Given the description of an element on the screen output the (x, y) to click on. 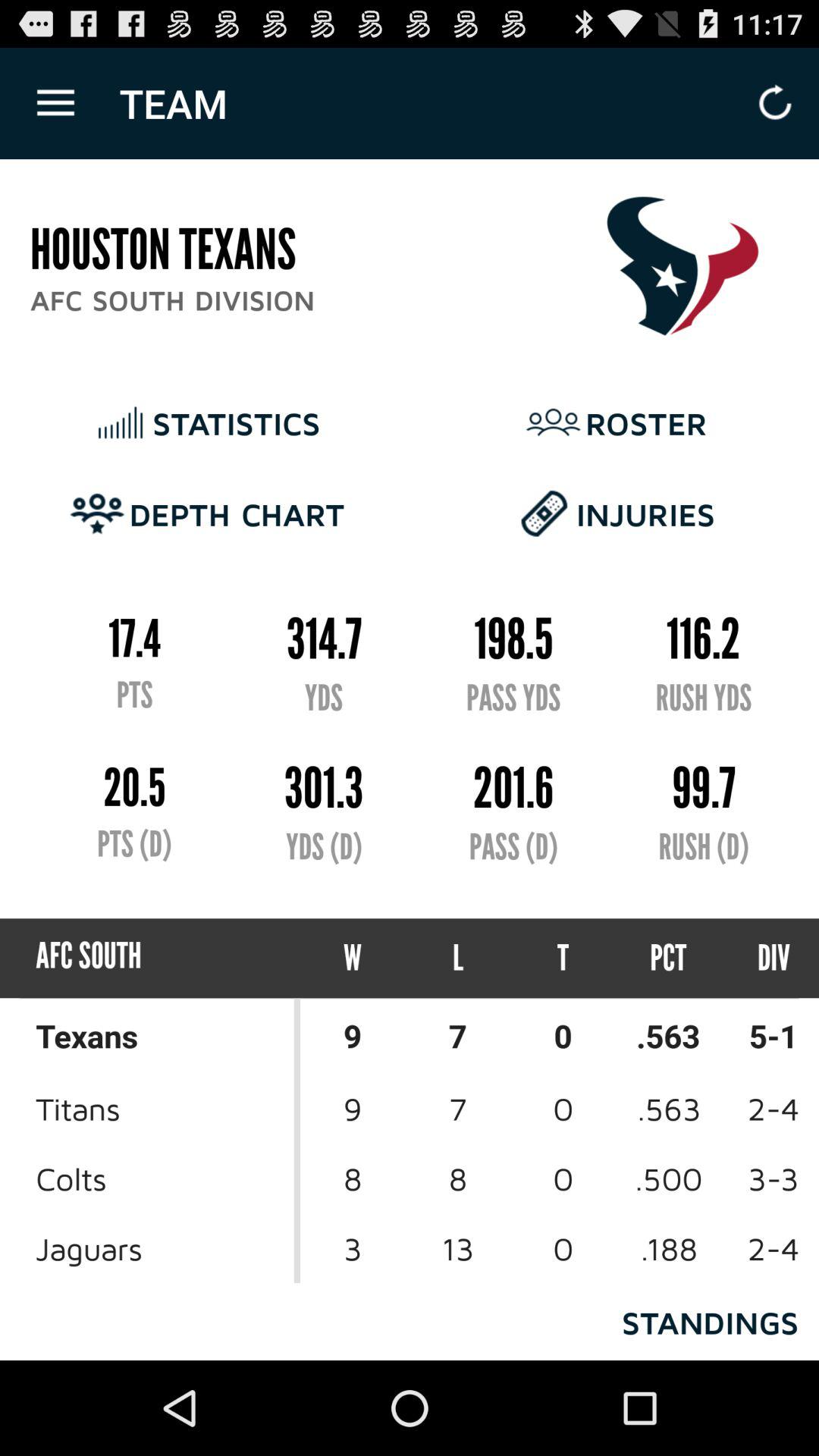
press div item (760, 958)
